Given the description of an element on the screen output the (x, y) to click on. 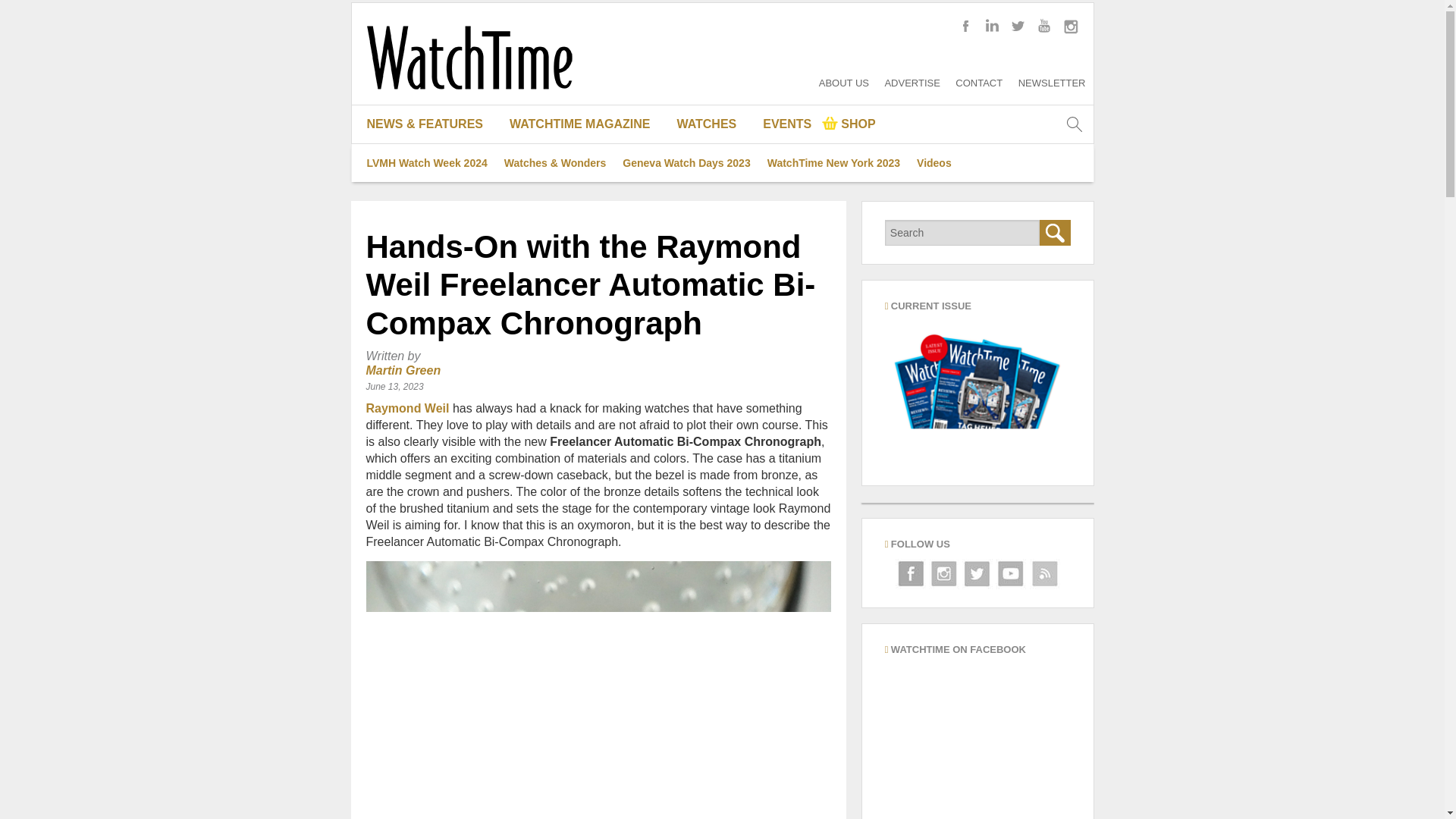
WATCH NEWS (430, 238)
ADVERTISE (911, 82)
Watch Brands (712, 161)
WATCH REVIEWS (430, 275)
EVENTS (786, 124)
CURRENT ISSUE (585, 161)
WatchTime Shop (848, 124)
ABOUT US (843, 82)
WATCH TERM GLOSSARY (712, 238)
Geneva Watch Days 2023 (686, 162)
